Given the description of an element on the screen output the (x, y) to click on. 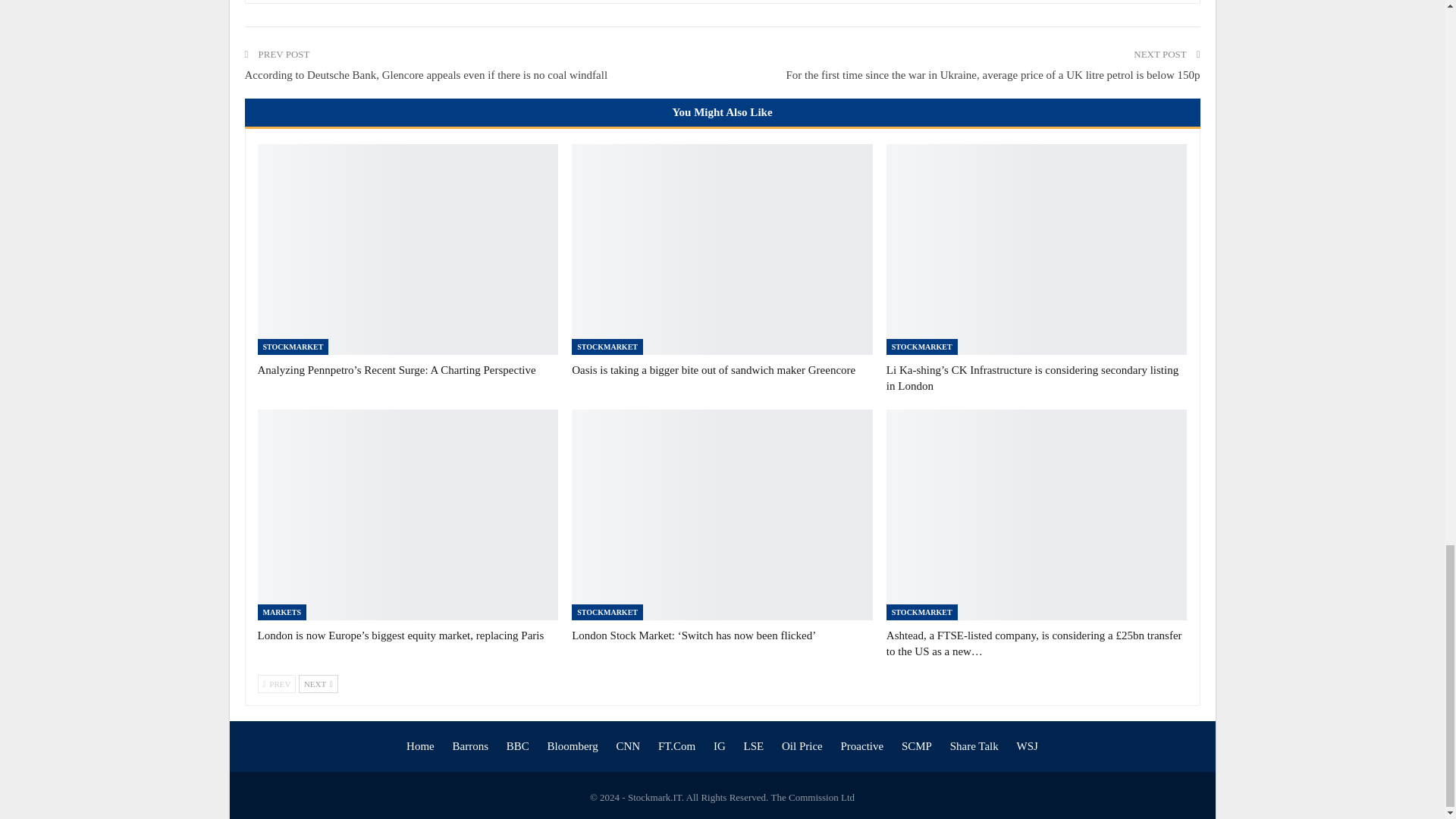
Previous (277, 683)
